Given the description of an element on the screen output the (x, y) to click on. 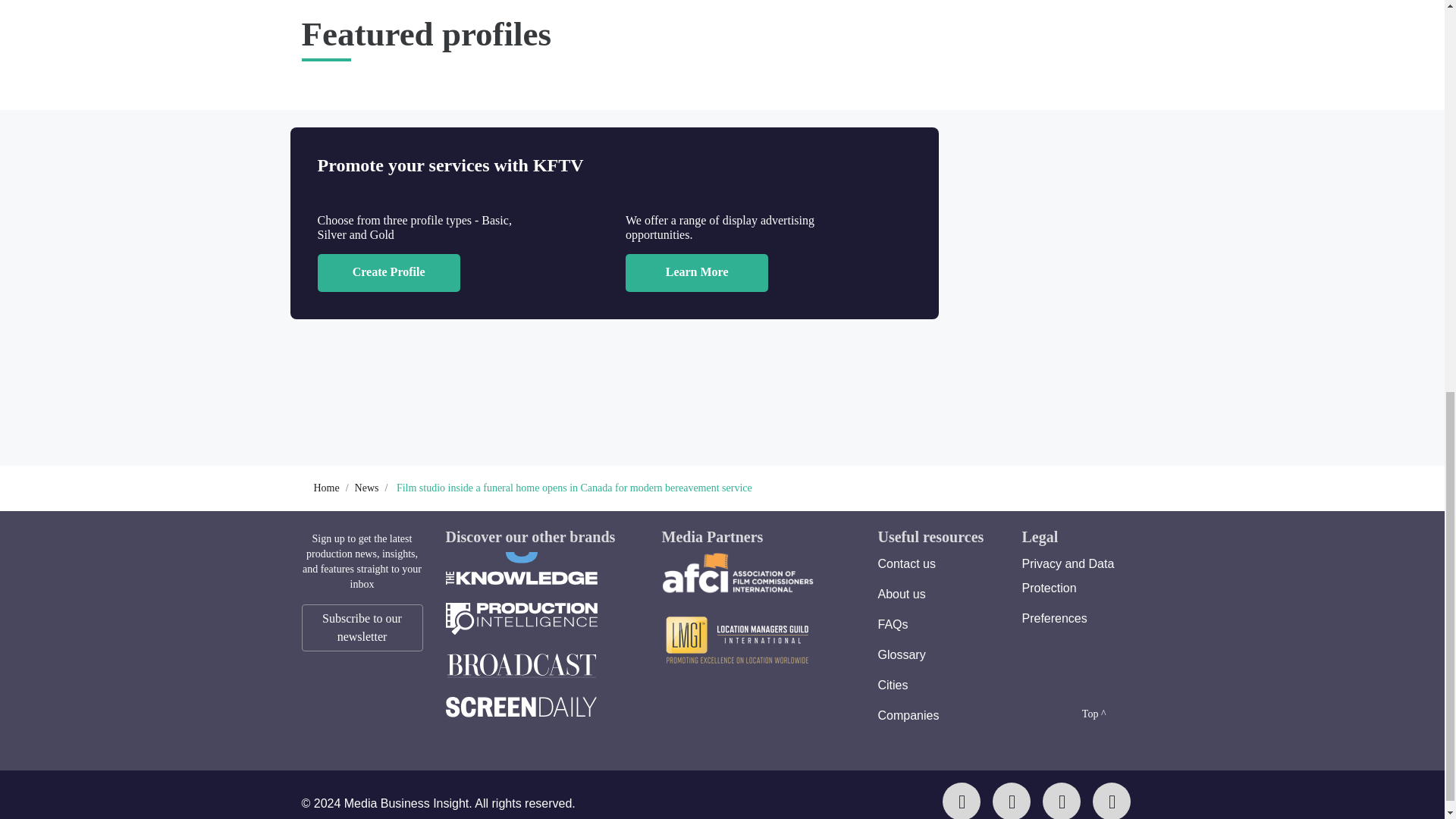
Home (326, 487)
About us (901, 594)
FAQs (892, 624)
Glossary (901, 654)
Cities (892, 684)
Create Profile (388, 272)
Learn More (697, 272)
Contact us (906, 563)
News (366, 487)
Subscribe to our newsletter (362, 627)
